Given the description of an element on the screen output the (x, y) to click on. 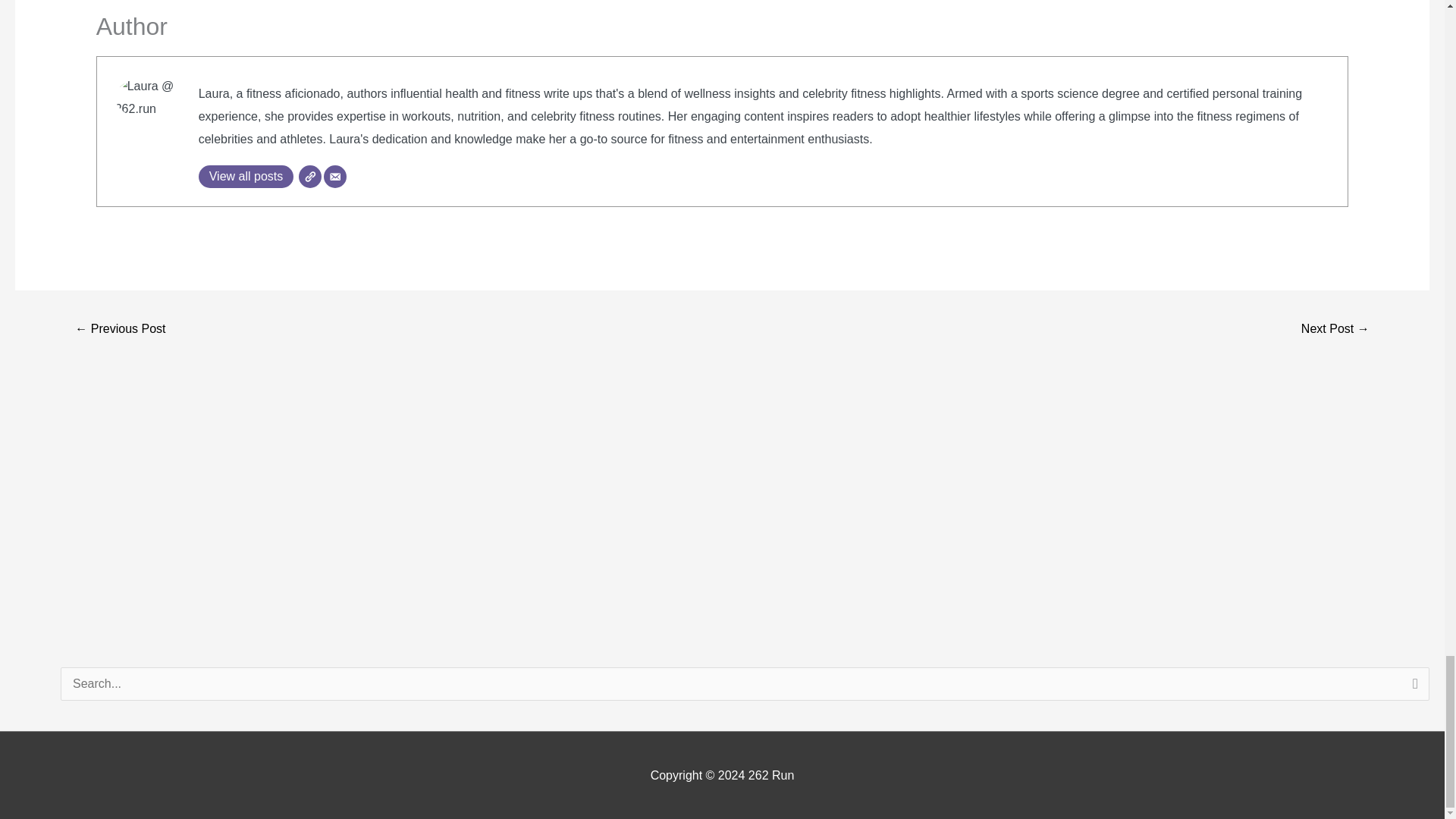
View all posts (246, 176)
What Incline On Treadmill To Simulate Outdoor Running (1334, 329)
Me Dan Calambres En La Planta Del Pie (119, 329)
View all posts (246, 176)
